Given the description of an element on the screen output the (x, y) to click on. 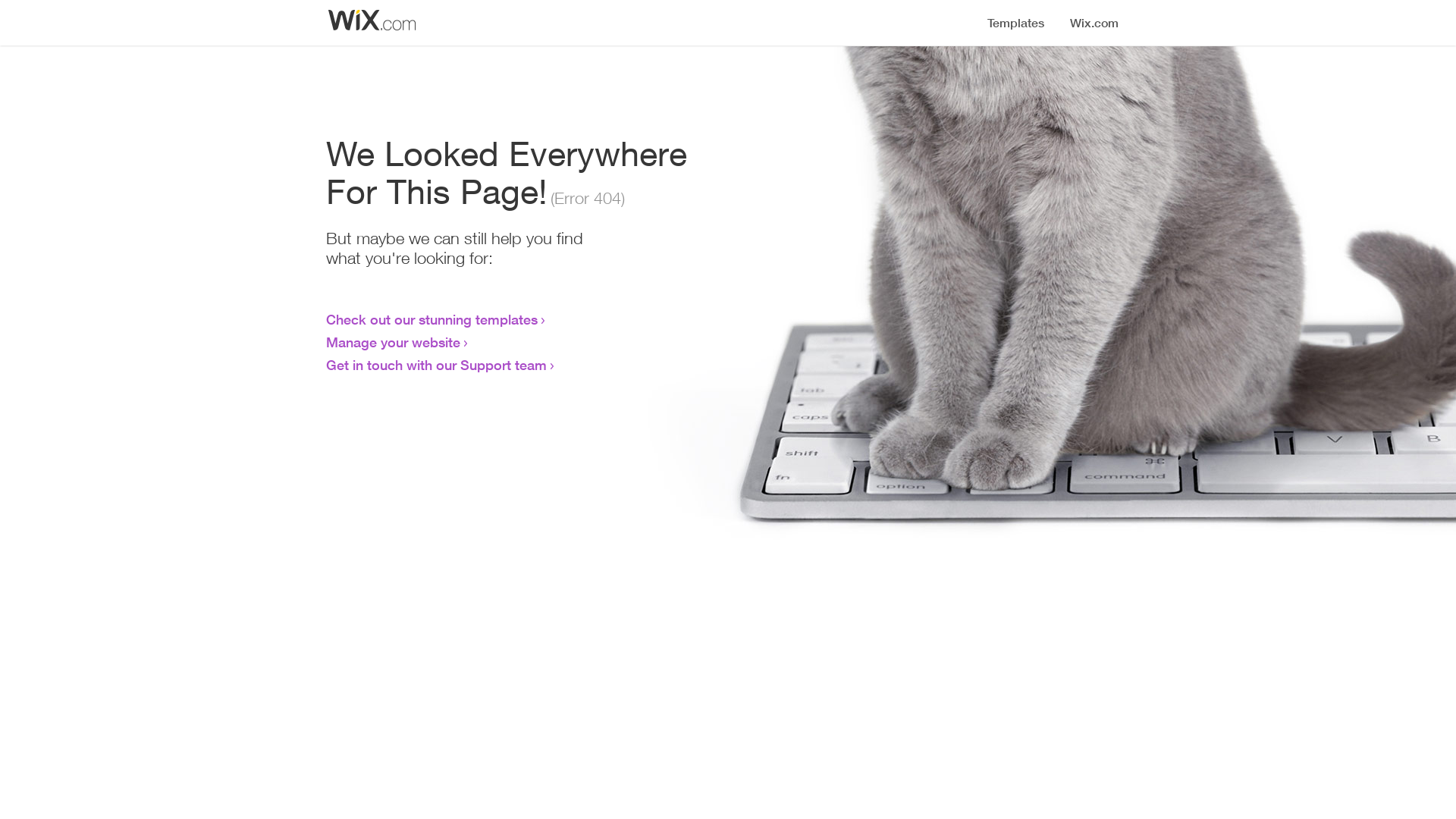
Get in touch with our Support team Element type: text (436, 364)
Check out our stunning templates Element type: text (431, 318)
Manage your website Element type: text (393, 341)
